Given the description of an element on the screen output the (x, y) to click on. 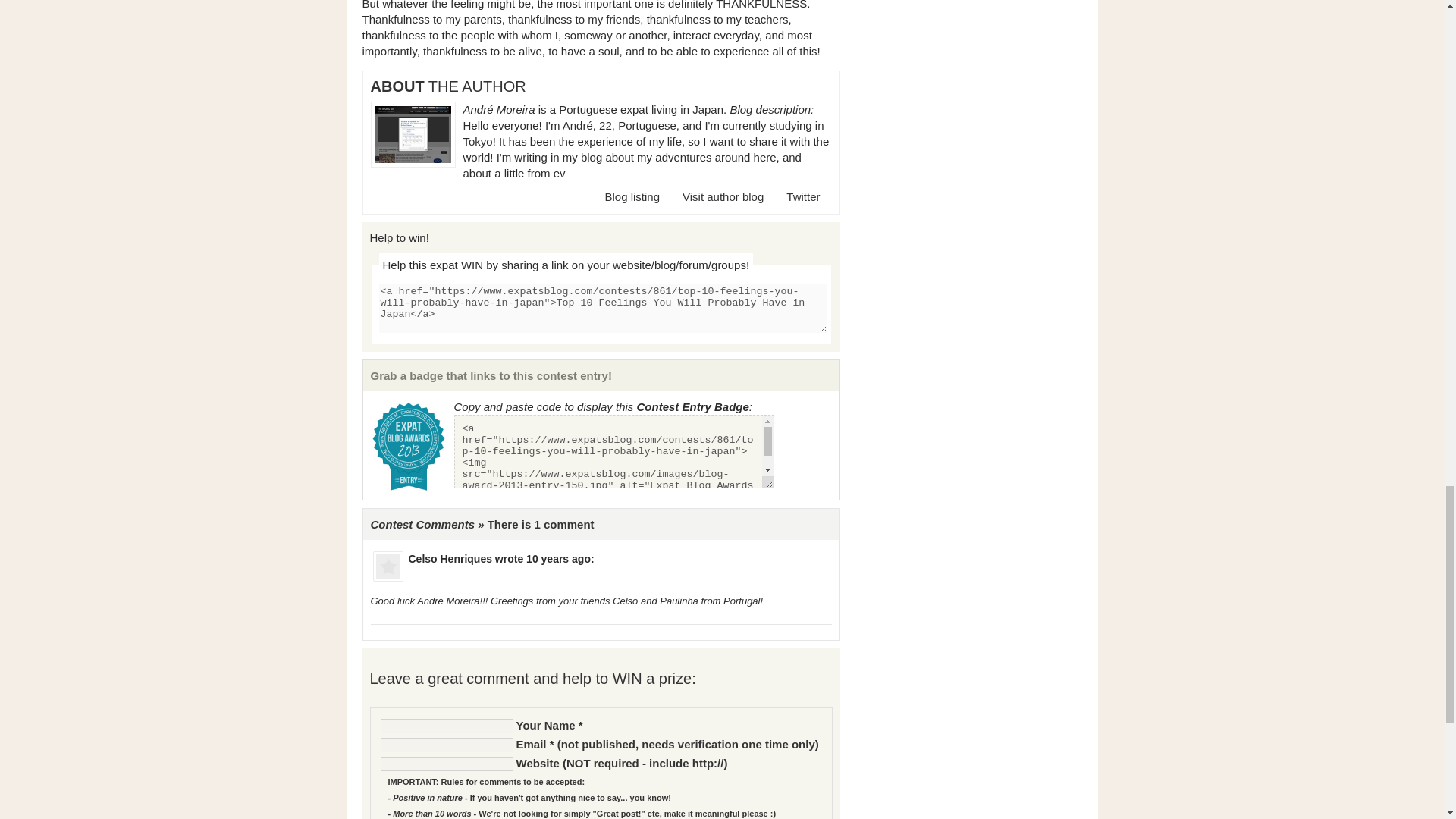
Twitter (802, 196)
Blog listing (631, 196)
Visit author blog (722, 196)
